Given the description of an element on the screen output the (x, y) to click on. 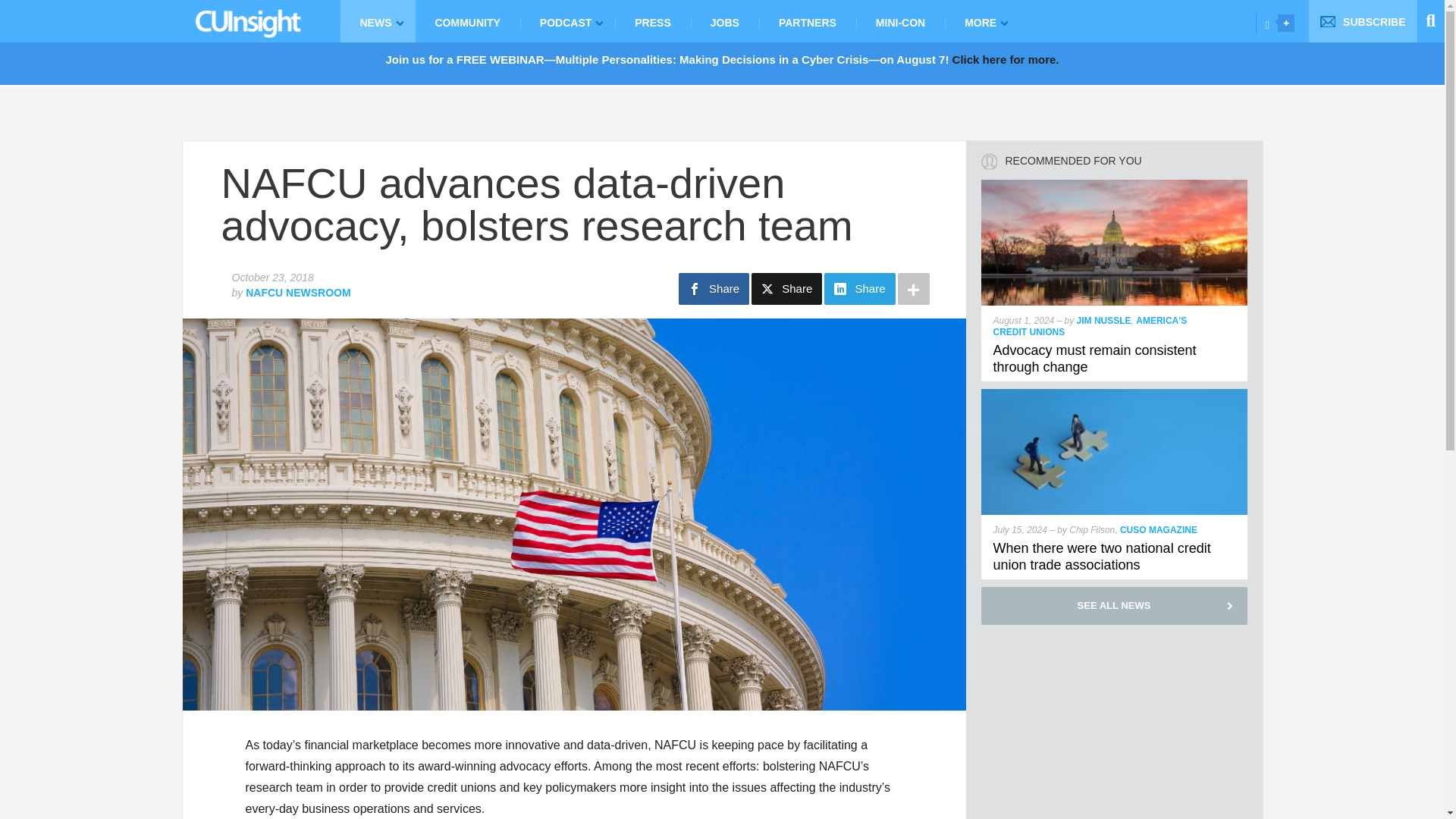
PARTNERS (807, 21)
SUBSCRIBE (1362, 21)
When there were two national credit union trade associations (1101, 556)
When there were two national credit union trade associations (1114, 395)
Advocacy must remain consistent through change (1114, 185)
NAFCU NEWSROOM (298, 292)
MINI-CON (900, 21)
Share (713, 288)
JOBS (724, 21)
COMMUNITY (466, 21)
